Given the description of an element on the screen output the (x, y) to click on. 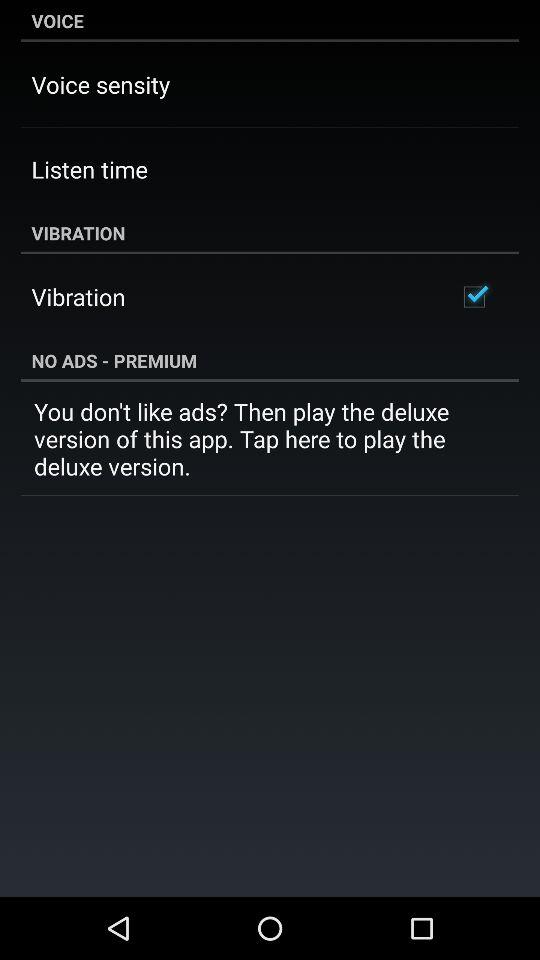
launch the icon above the you don t (270, 360)
